Given the description of an element on the screen output the (x, y) to click on. 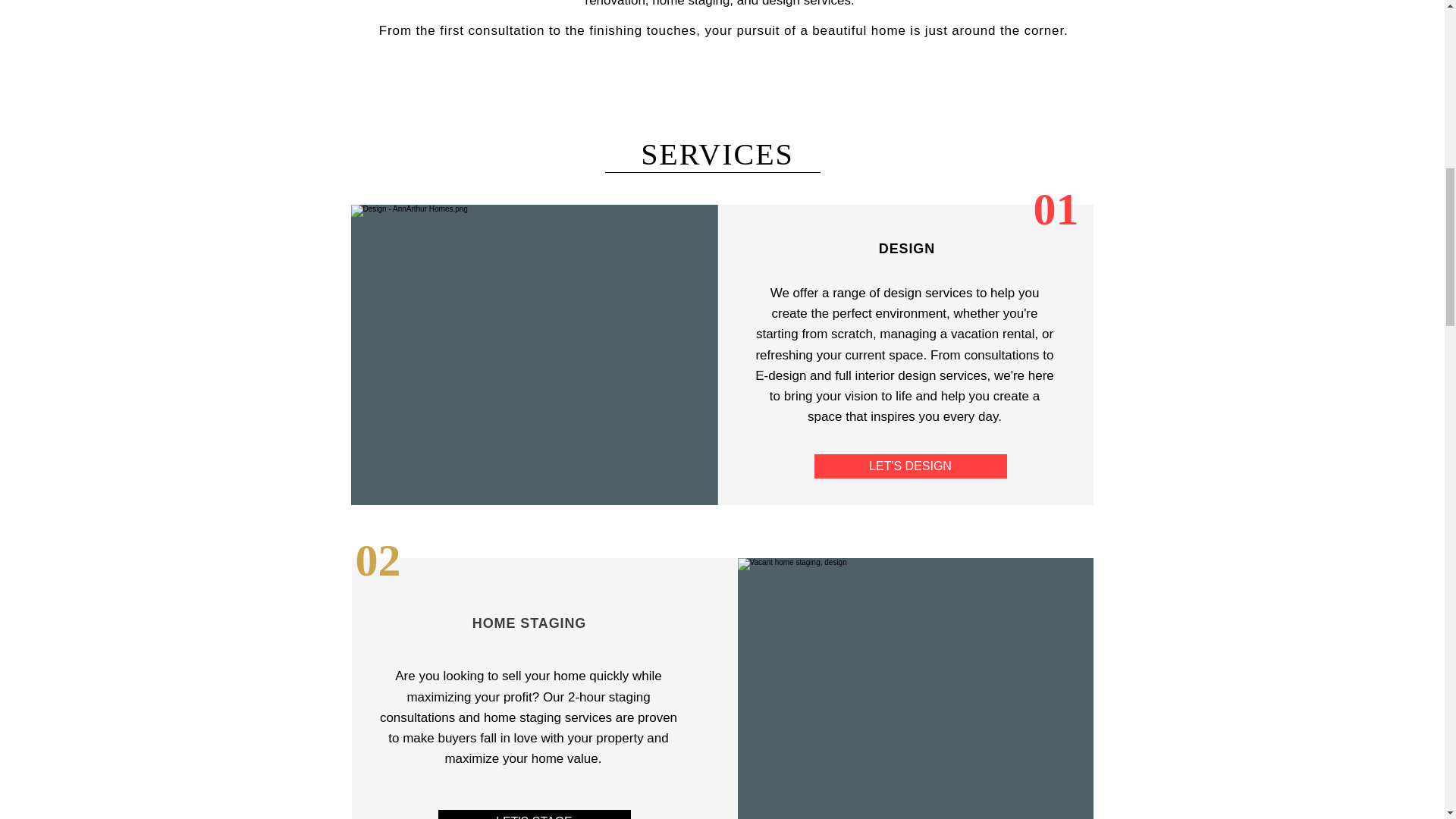
LET'S DESIGN (910, 466)
LET'S STAGE (534, 814)
